Given the description of an element on the screen output the (x, y) to click on. 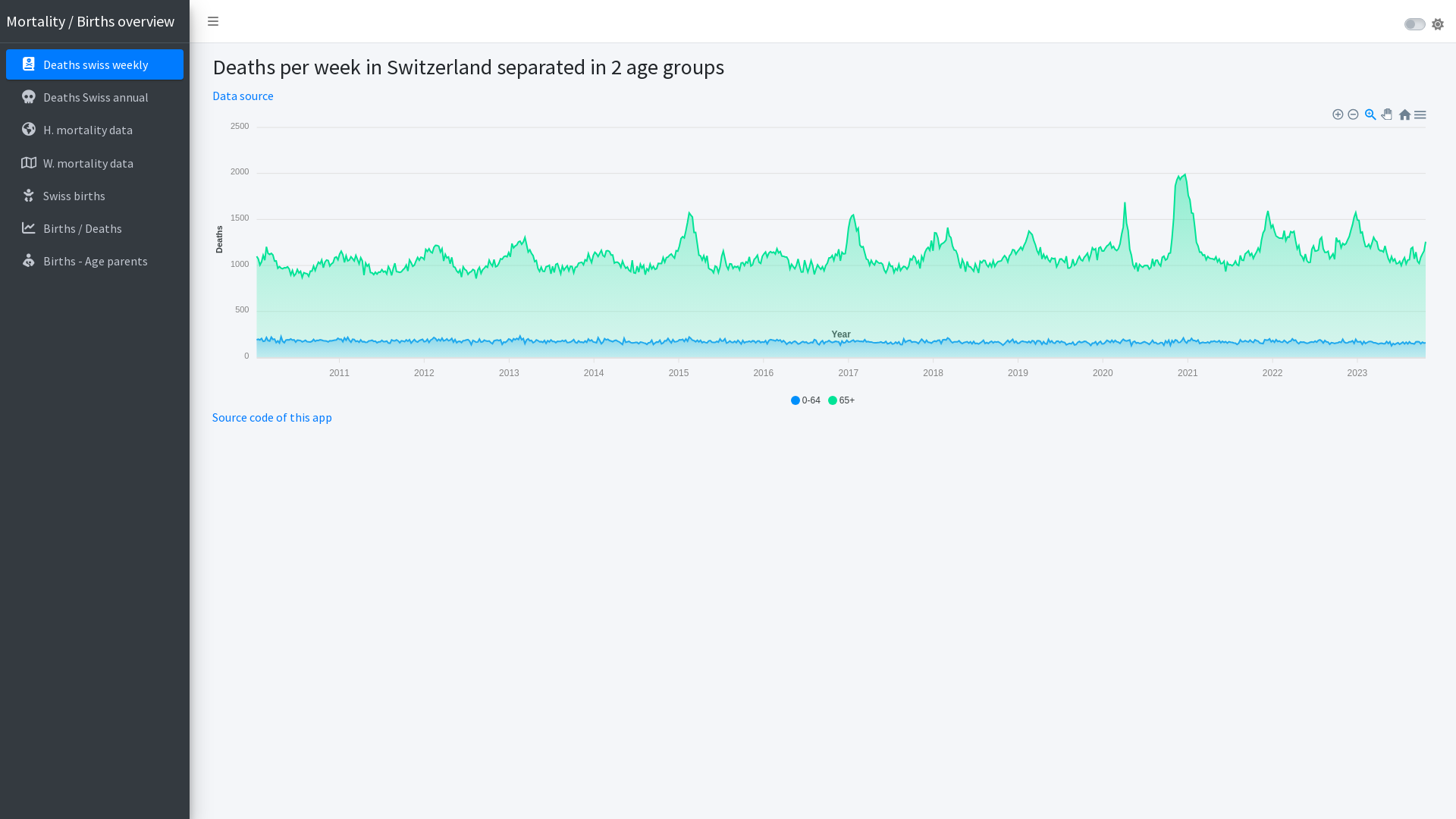
Zoom Out Element type: hover (1353, 114)
Menu Element type: hover (1419, 112)
Zoom In Element type: hover (1338, 114)
Births - Age parents Element type: text (94, 260)
Deaths Swiss annual Element type: text (94, 96)
Panning Element type: hover (1388, 114)
Births / Deaths Element type: text (94, 228)
H. mortality data Element type: text (94, 129)
W. mortality data Element type: text (94, 162)
Source code of this app Element type: text (272, 416)
Data source Element type: text (242, 95)
Reset Zoom Element type: hover (1404, 112)
Deaths swiss weekly Element type: text (94, 64)
Swiss births Element type: text (94, 195)
Selection Zoom Element type: hover (1370, 112)
